Given the description of an element on the screen output the (x, y) to click on. 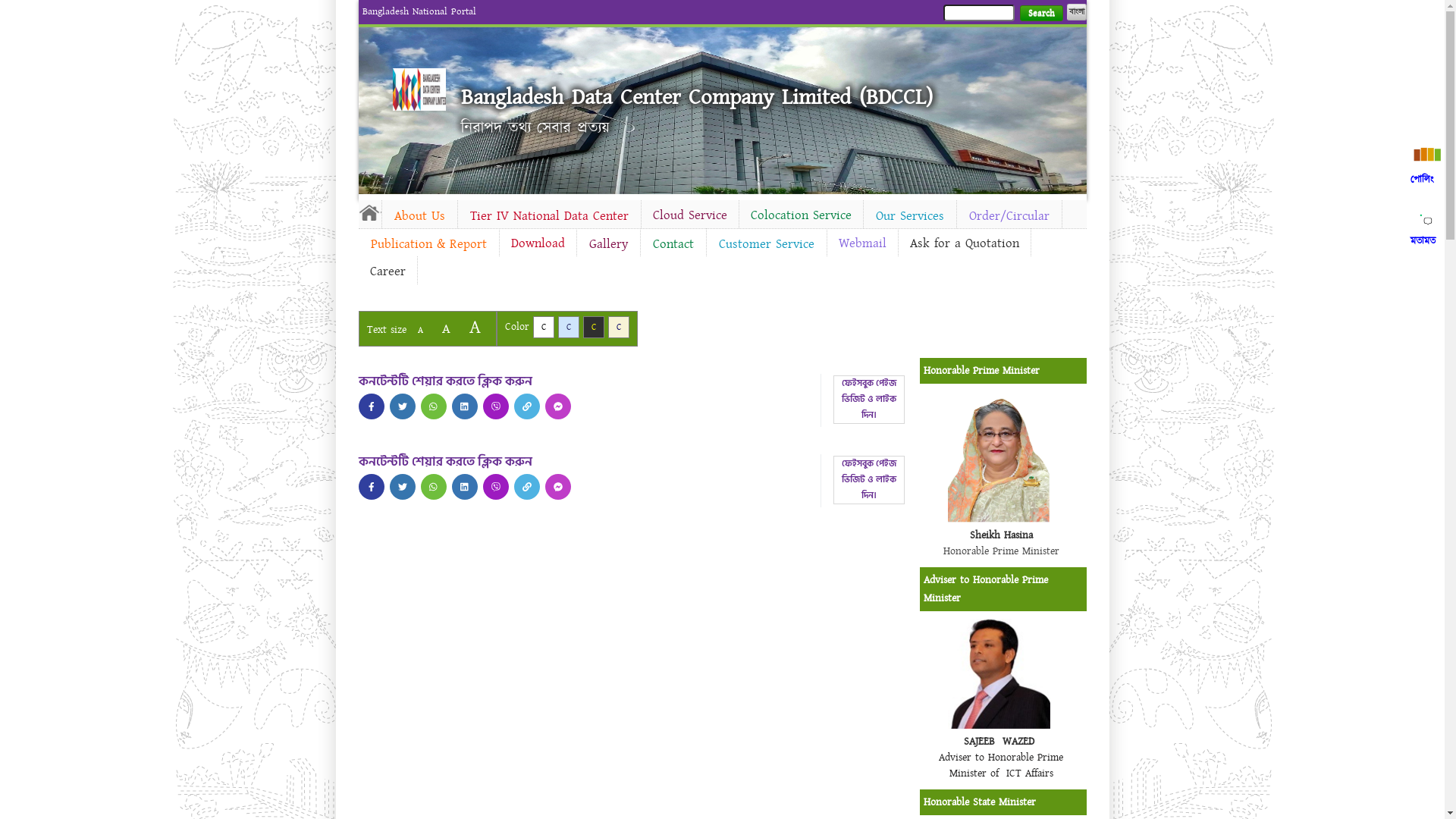
Customer Service Element type: text (766, 244)
Cloud Service Element type: text (689, 215)
A Element type: text (474, 327)
Contact Element type: text (672, 244)
Gallery Element type: text (607, 244)
Bangladesh National Portal Element type: text (419, 11)
C Element type: text (542, 327)
Colocation Service Element type: text (800, 215)
C Element type: text (568, 327)
Our Services Element type: text (908, 216)
Home Element type: hover (418, 89)
Tier IV National Data Center Element type: text (549, 216)
Home Element type: hover (368, 211)
Order/Circular Element type: text (1009, 216)
Publication & Report Element type: text (427, 244)
C Element type: text (618, 327)
A Element type: text (445, 328)
Ask for a Quotation Element type: text (963, 243)
C Element type: text (592, 327)
Search Element type: text (1040, 13)
Download Element type: text (536, 243)
About Us Element type: text (419, 216)
Webmail Element type: text (861, 243)
A Element type: text (419, 330)
Bangladesh Data Center Company Limited (BDCCL) Element type: text (696, 96)
Career Element type: text (386, 271)
